Given the description of an element on the screen output the (x, y) to click on. 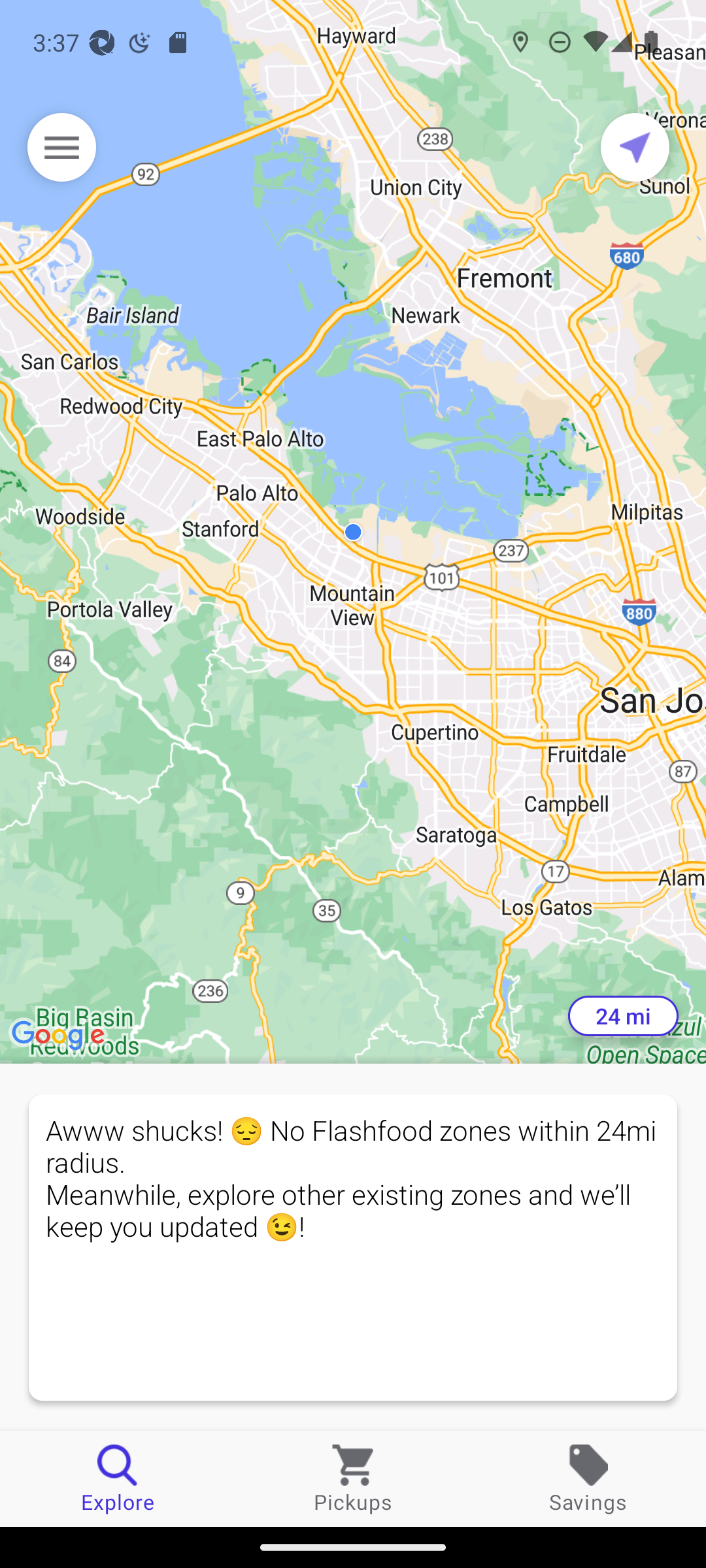
Menu (61, 146)
Current location (634, 146)
24 mi (623, 1015)
Pickups (352, 1478)
Savings (588, 1478)
